Given the description of an element on the screen output the (x, y) to click on. 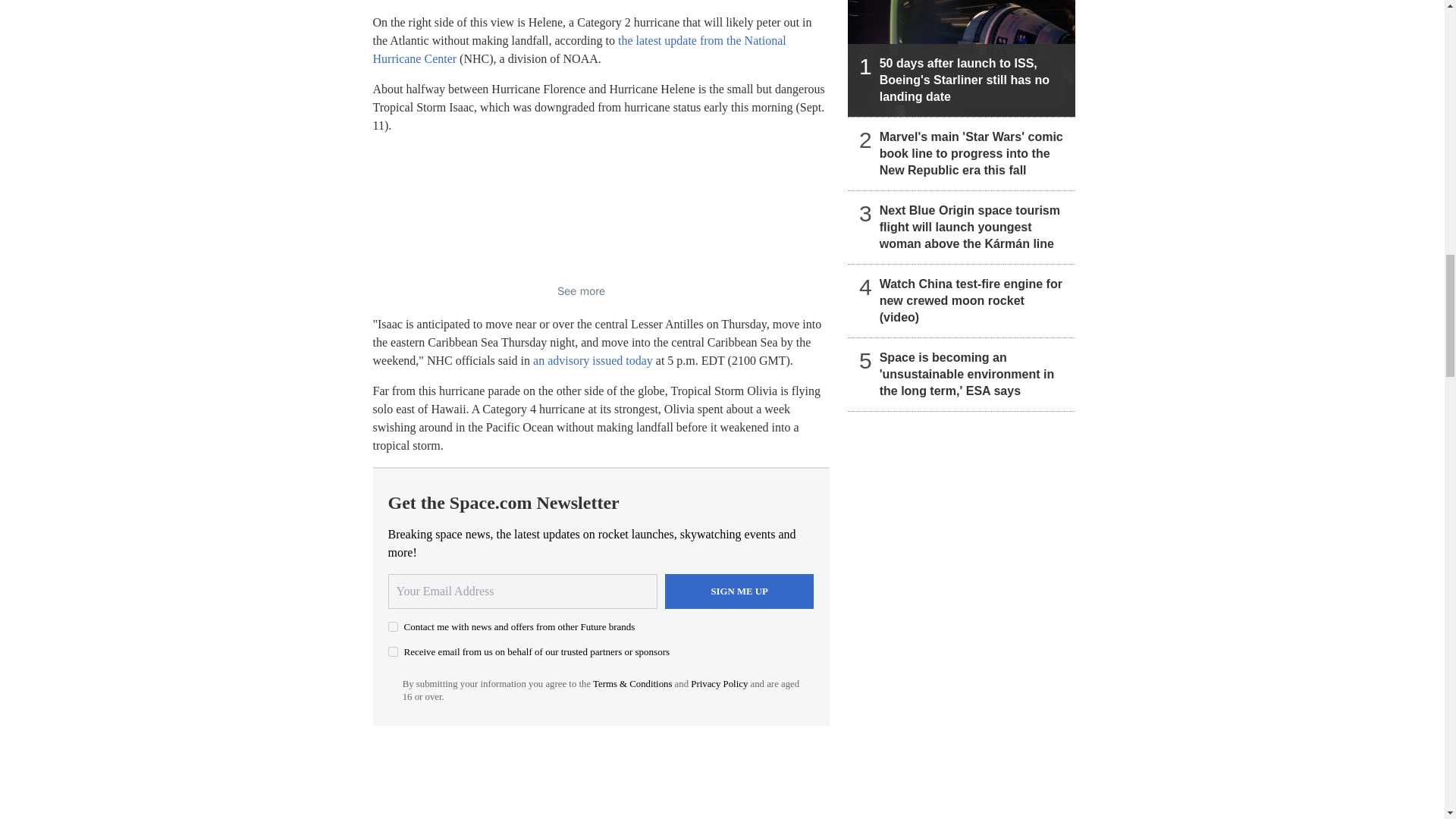
Sign me up (739, 591)
on (392, 651)
on (392, 626)
